Given the description of an element on the screen output the (x, y) to click on. 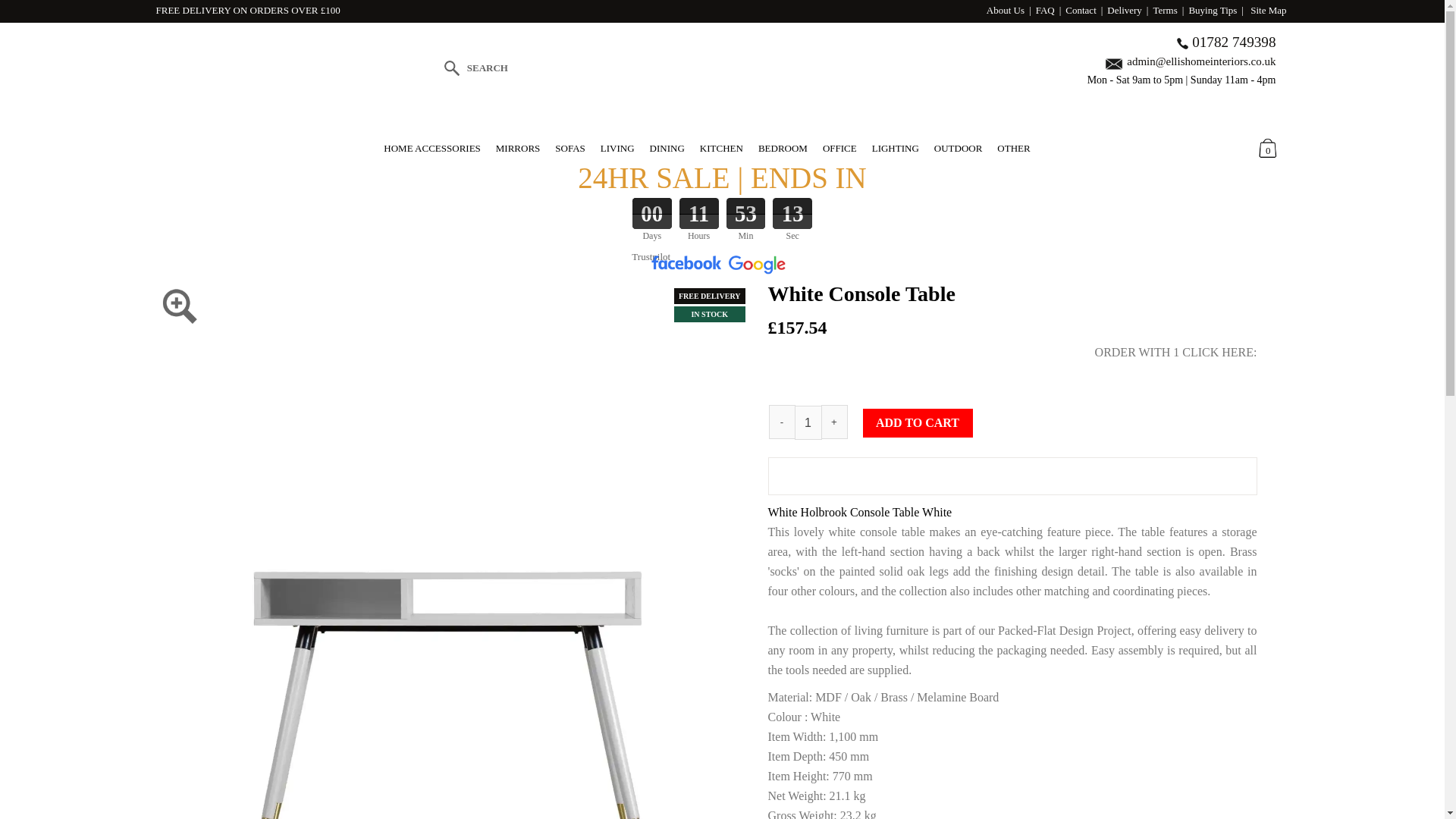
Site Map (1267, 9)
Terms (1164, 9)
Buying Tips (1212, 9)
HOME ACCESSORIES (432, 147)
FAQ (1044, 9)
01782 749398 (1233, 41)
White Console Table (448, 287)
Contact (1080, 9)
Delivery (1123, 9)
